Given the description of an element on the screen output the (x, y) to click on. 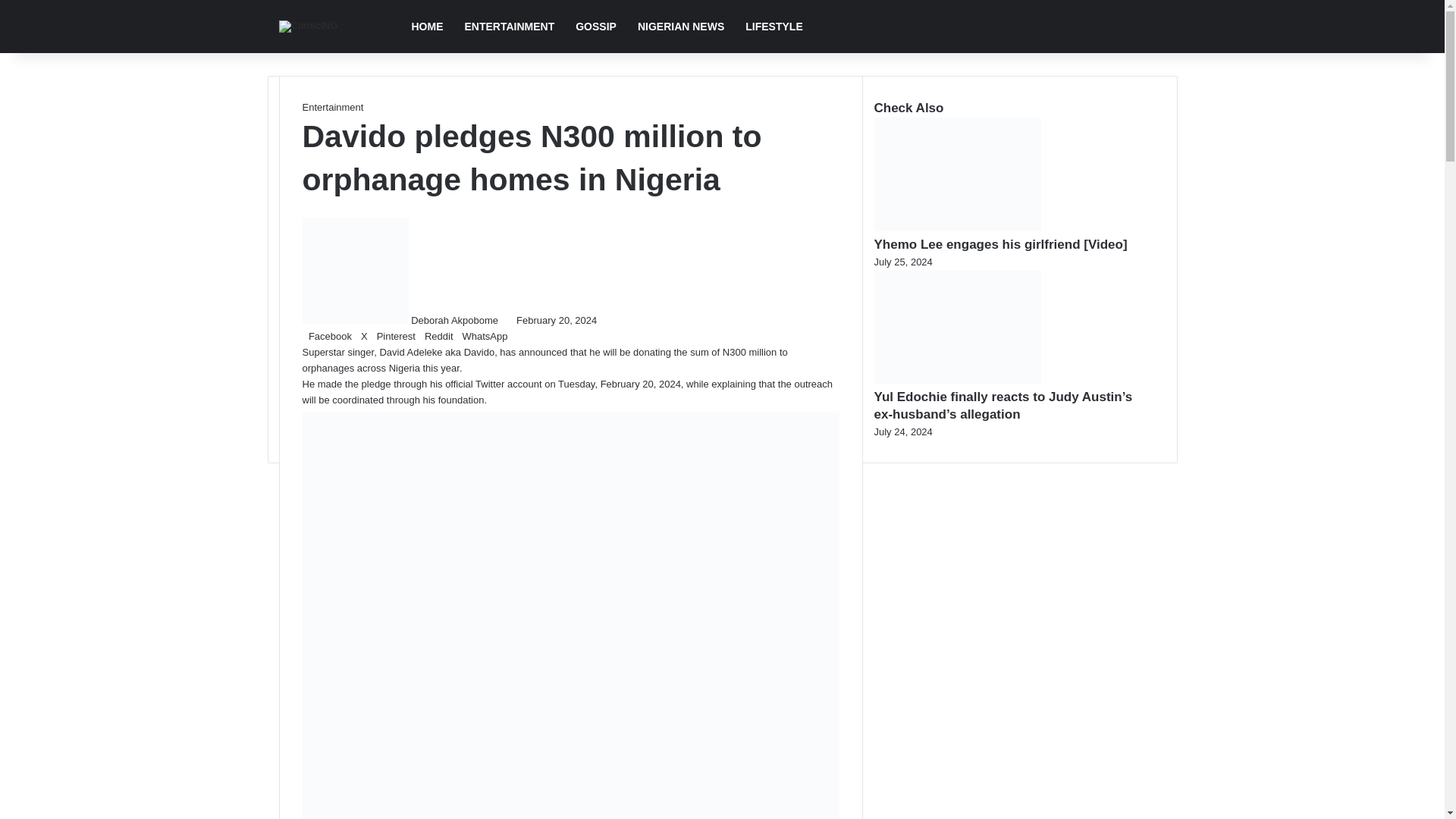
Entertainment (331, 107)
Reddit (438, 336)
ENTERTAINMENT (508, 26)
NIGERIAN NEWS (681, 26)
GOSSIP (595, 26)
CorrectNG (308, 26)
Reddit (438, 336)
Deborah Akpobome (453, 319)
X (363, 336)
Pinterest (393, 336)
WhatsApp (480, 336)
X (363, 336)
WhatsApp (480, 336)
HOME (426, 26)
Deborah Akpobome (453, 319)
